Given the description of an element on the screen output the (x, y) to click on. 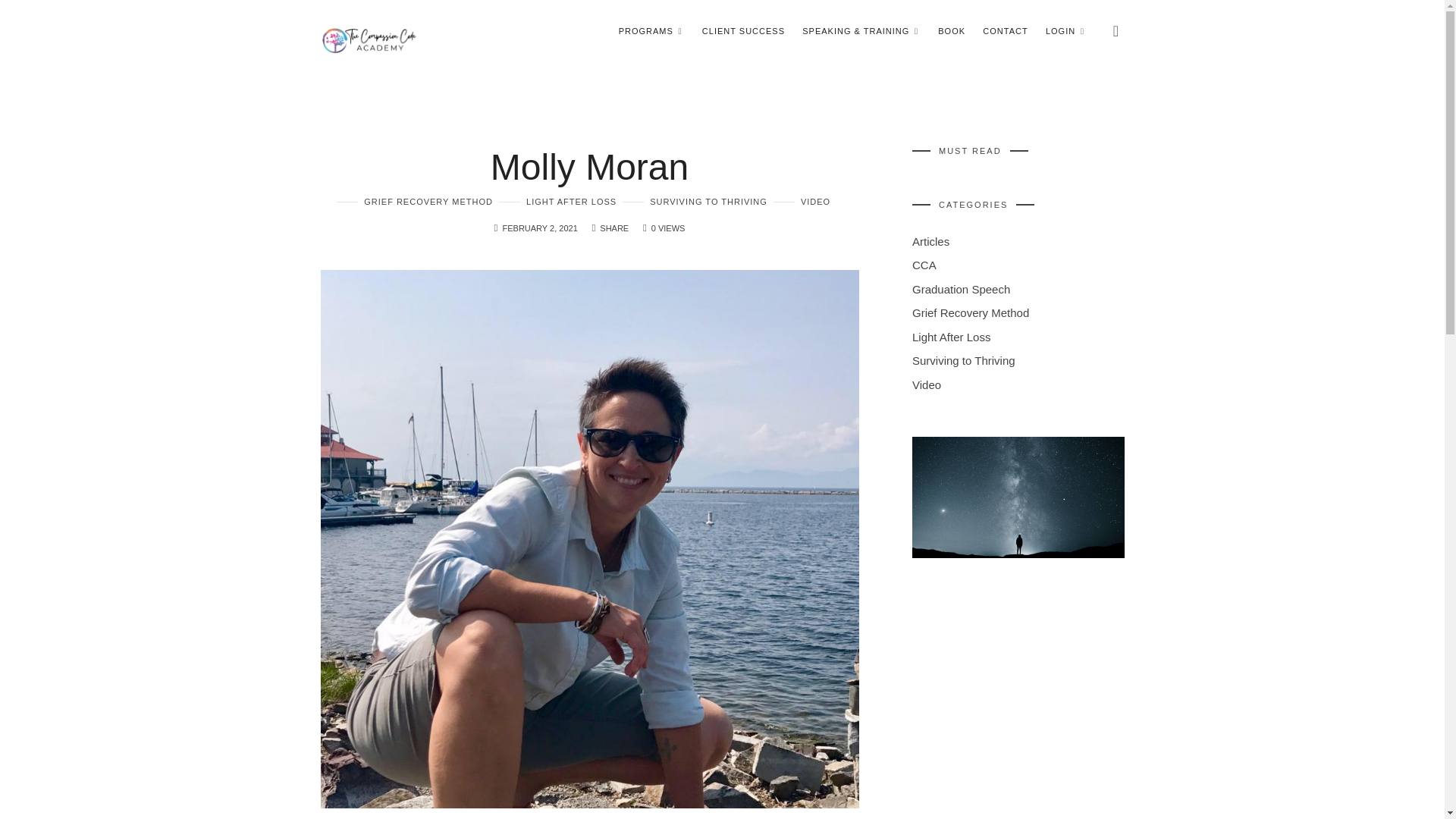
VIDEO (801, 201)
SURVIVING TO THRIVING (695, 201)
View your shopping cart (1115, 31)
CLIENT SUCCESS (742, 31)
CONTACT (1004, 31)
LIGHT AFTER LOSS (557, 201)
GRIEF RECOVERY METHOD (414, 201)
LOGIN (1065, 31)
PROGRAMS (651, 31)
FEBRUARY 2, 2021 (539, 227)
